Given the description of an element on the screen output the (x, y) to click on. 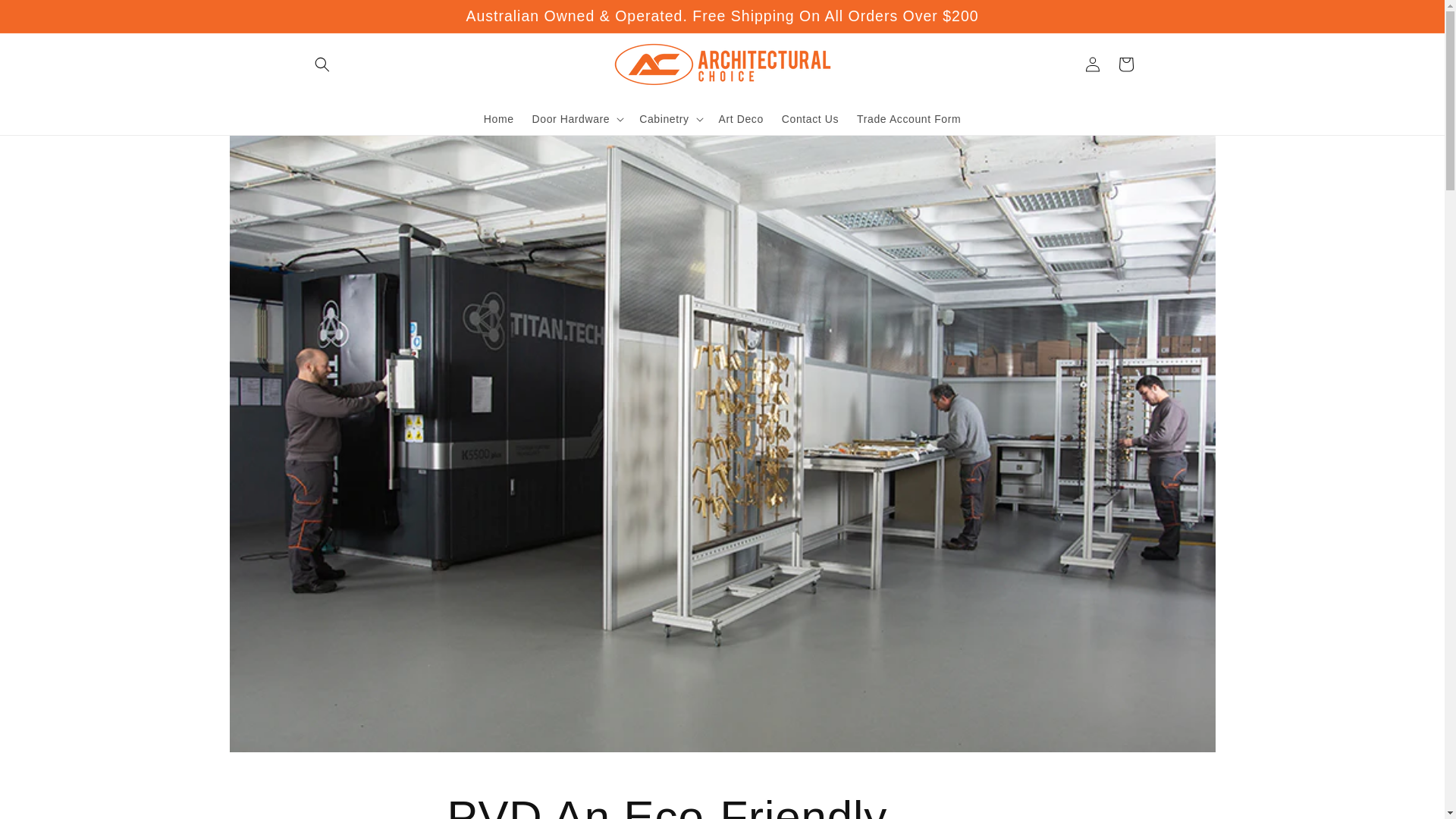
Skip to content (45, 17)
